Given the description of an element on the screen output the (x, y) to click on. 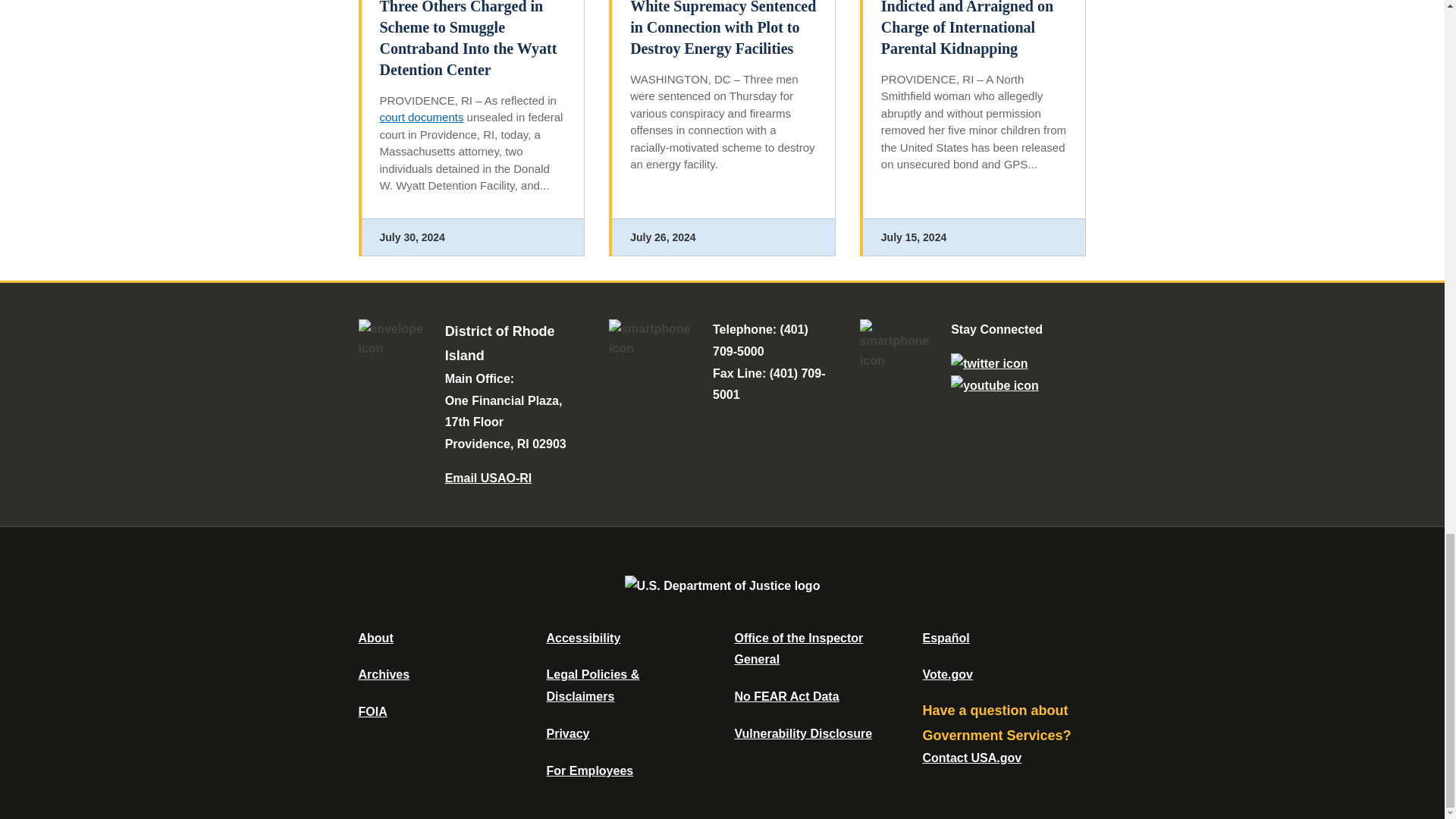
Accessibility Statement (583, 637)
About DOJ (375, 637)
Data Posted Pursuant To The No Fear Act (785, 696)
For Employees (589, 770)
Office of Information Policy (372, 711)
Department of Justice Archive (383, 674)
Legal Policies and Disclaimers (592, 685)
